Given the description of an element on the screen output the (x, y) to click on. 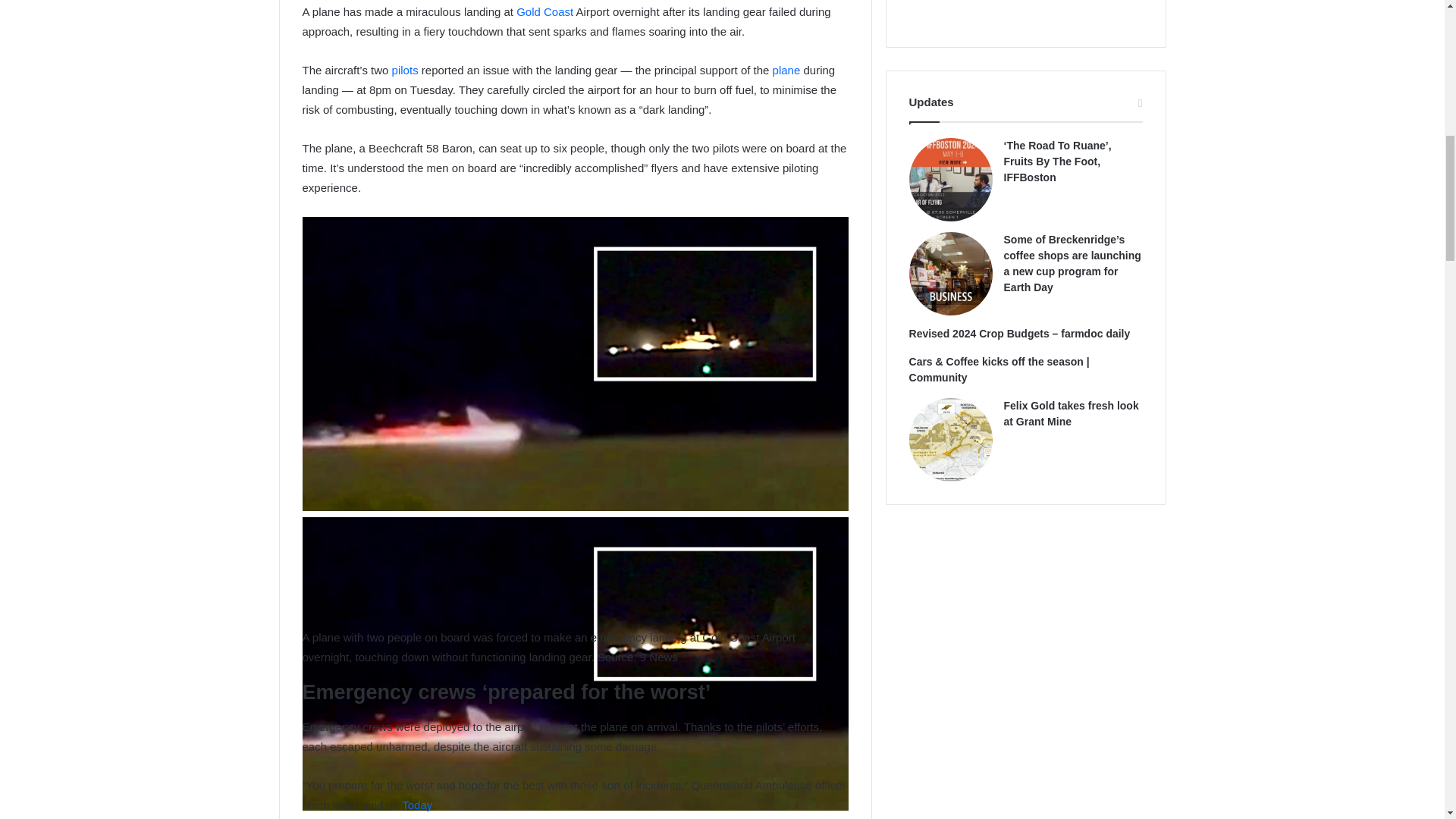
Gold Coast (544, 11)
pilots (405, 69)
plane (786, 69)
Today (415, 804)
